Given the description of an element on the screen output the (x, y) to click on. 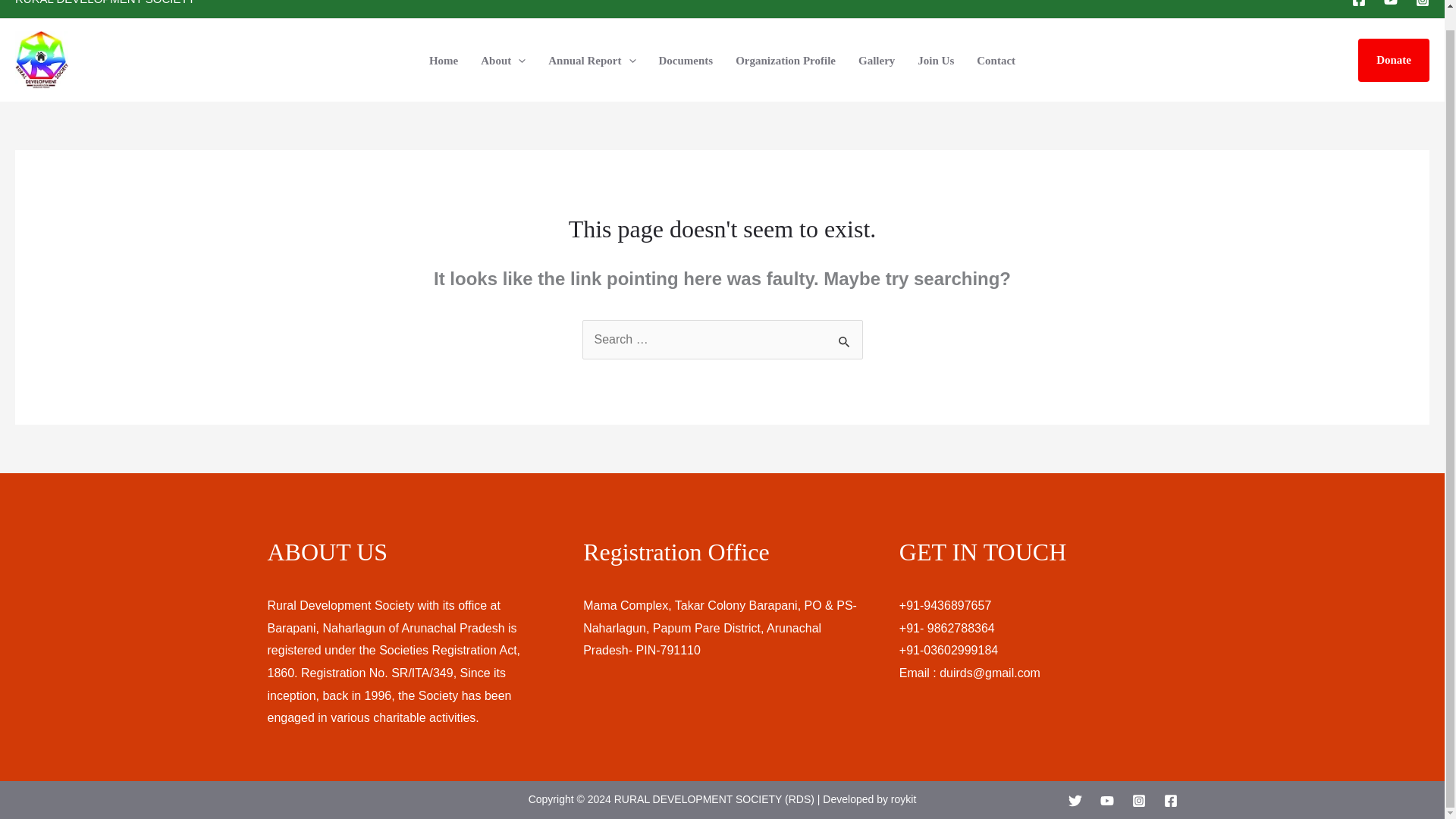
Gallery (876, 59)
Join Us (935, 59)
Donate (1393, 60)
Documents (686, 59)
Contact (995, 59)
Organization Profile (785, 59)
Annual Report (591, 59)
Home (442, 59)
About (502, 59)
